Given the description of an element on the screen output the (x, y) to click on. 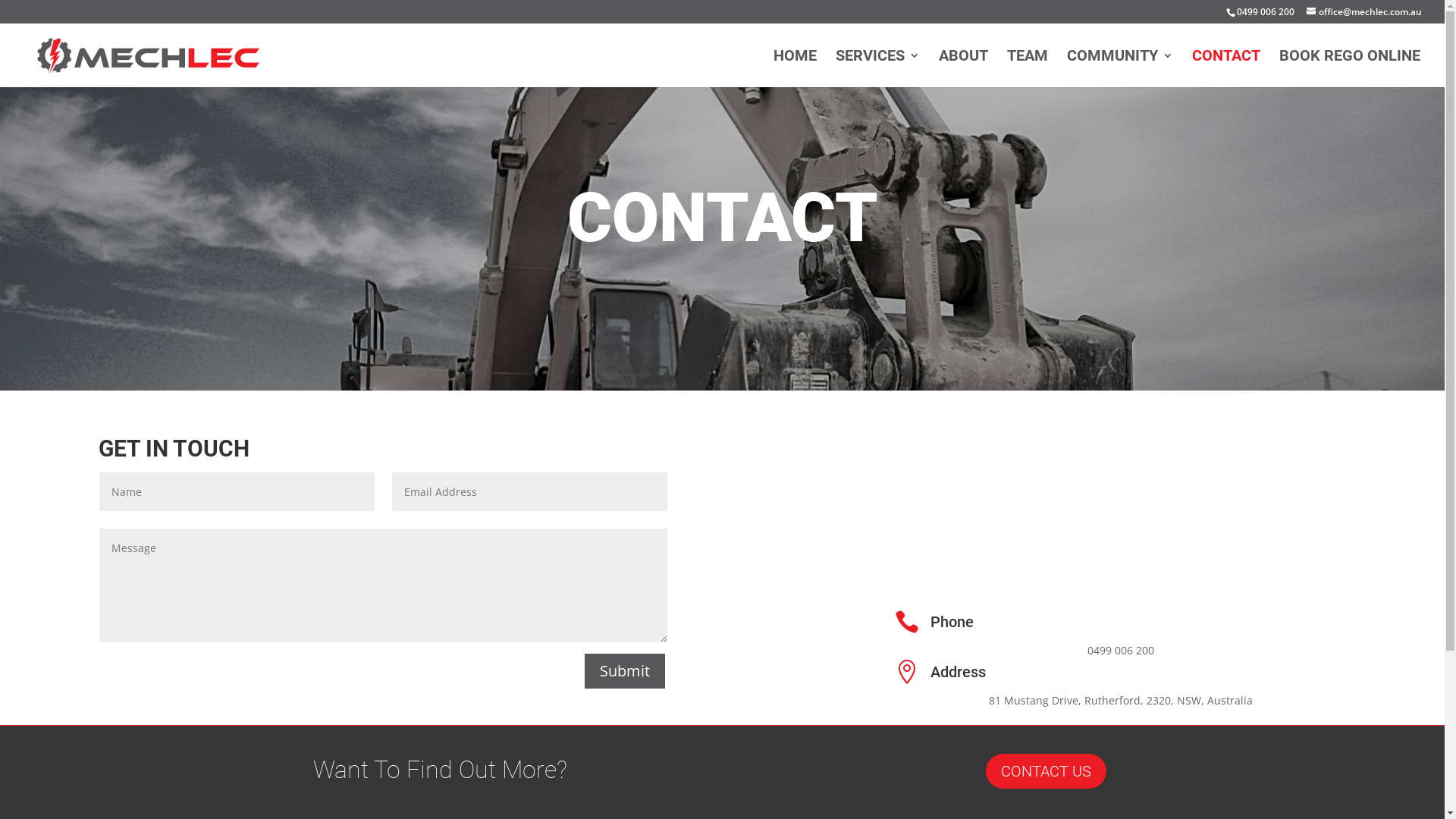
HOME Element type: text (794, 68)
Submit Element type: text (624, 670)
SERVICES Element type: text (877, 68)
COMMUNITY Element type: text (1119, 68)
office@mechlec.com.au Element type: text (1363, 11)
CONTACT US Element type: text (1045, 770)
TEAM Element type: text (1027, 68)
ABOUT Element type: text (963, 68)
BOOK REGO ONLINE Element type: text (1349, 68)
CONTACT Element type: text (1226, 68)
